Given the description of an element on the screen output the (x, y) to click on. 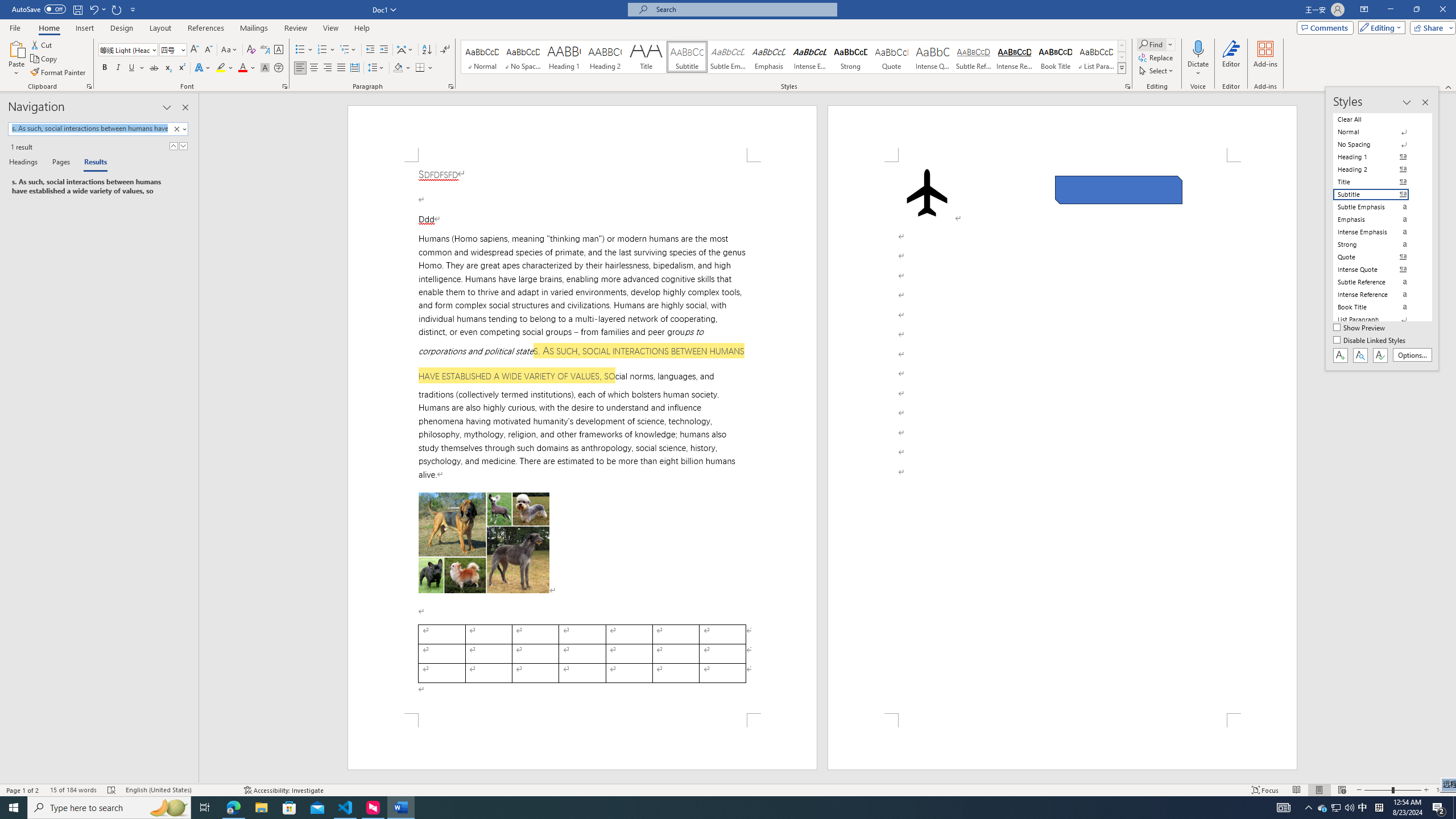
No Spacing (1377, 144)
Book Title (1055, 56)
Undo Style (96, 9)
